Given the description of an element on the screen output the (x, y) to click on. 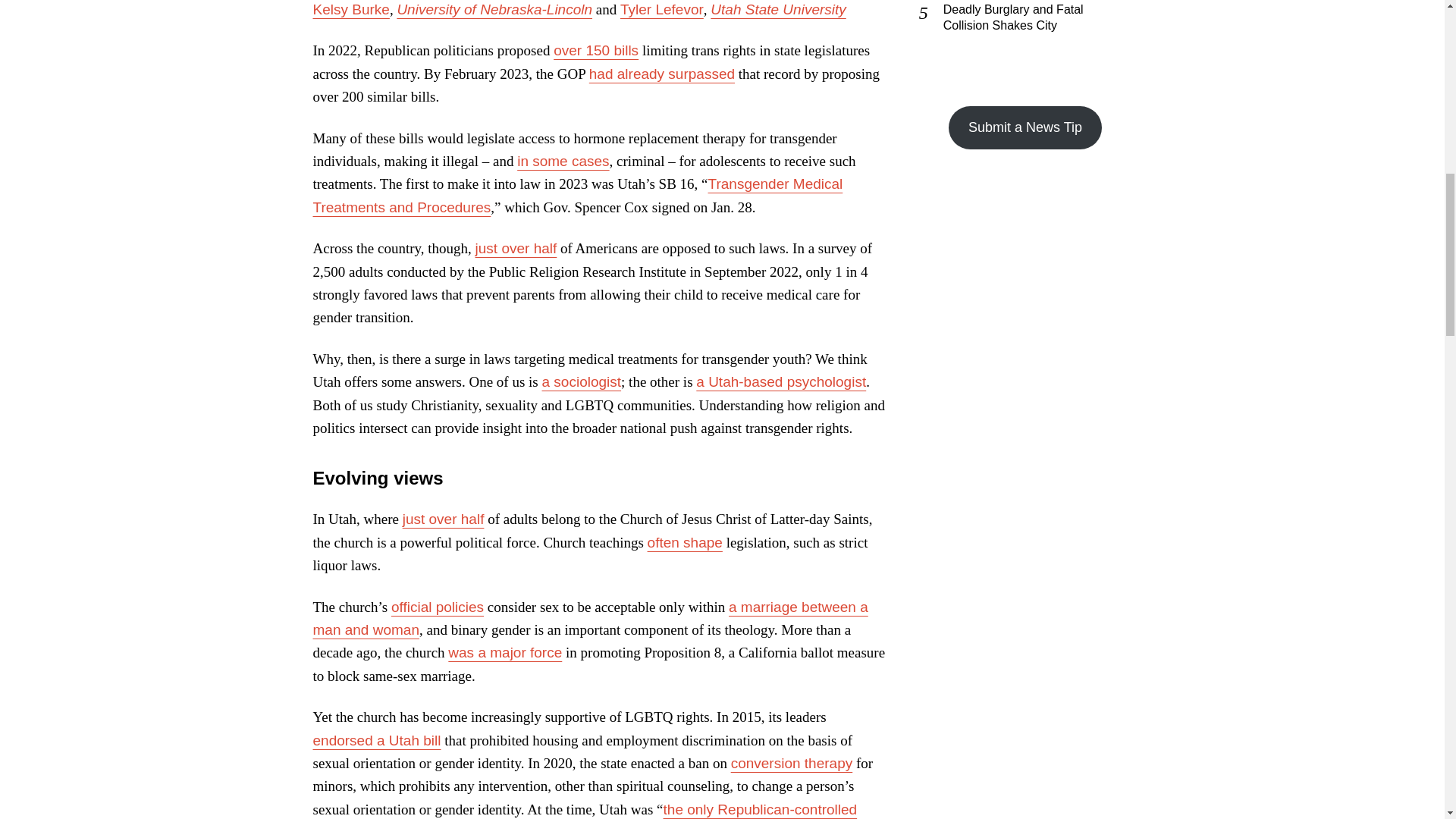
just over half (516, 248)
University of Nebraska-Lincoln (494, 9)
over 150 bills (596, 50)
in some cases (562, 160)
Transgender Medical Treatments and Procedures (578, 195)
had already surpassed (662, 73)
Tyler Lefevor (661, 9)
Kelsy Burke (350, 9)
Utah State University (777, 9)
